Given the description of an element on the screen output the (x, y) to click on. 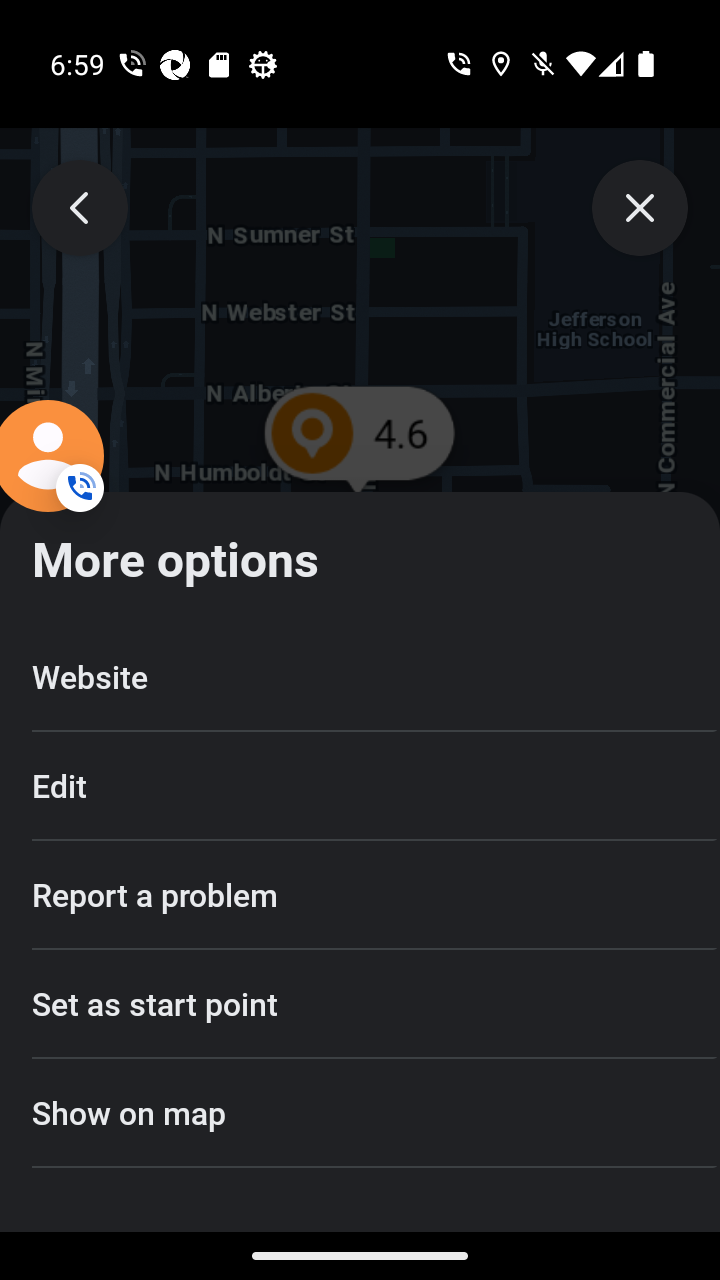
Website ACTION_CELL_TEXT (360, 677)
Edit ACTION_CELL_TEXT (360, 786)
Report a problem ACTION_CELL_TEXT (360, 894)
Set as start point ACTION_CELL_TEXT (360, 1003)
Set as start point ACTION_CELL_TEXT (360, 1003)
Show on map ACTION_CELL_TEXT (360, 1112)
Show on map ACTION_CELL_TEXT (360, 1112)
